Given the description of an element on the screen output the (x, y) to click on. 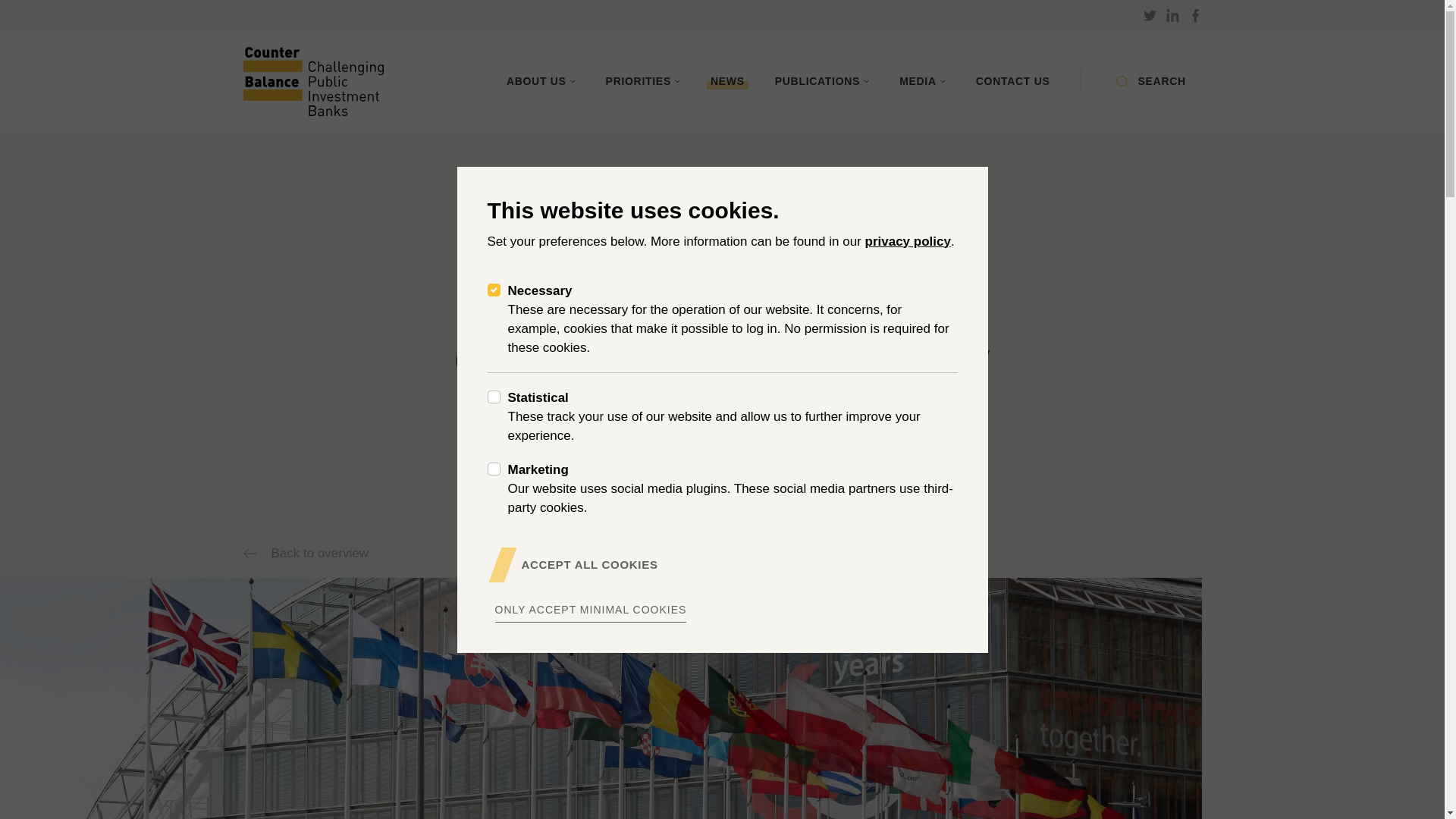
PRIORITIES (642, 81)
CONTACT US (1012, 81)
PUBLICATIONS (821, 81)
ABOUT US (540, 81)
MEDIA (921, 81)
NEWS (727, 81)
